Given the description of an element on the screen output the (x, y) to click on. 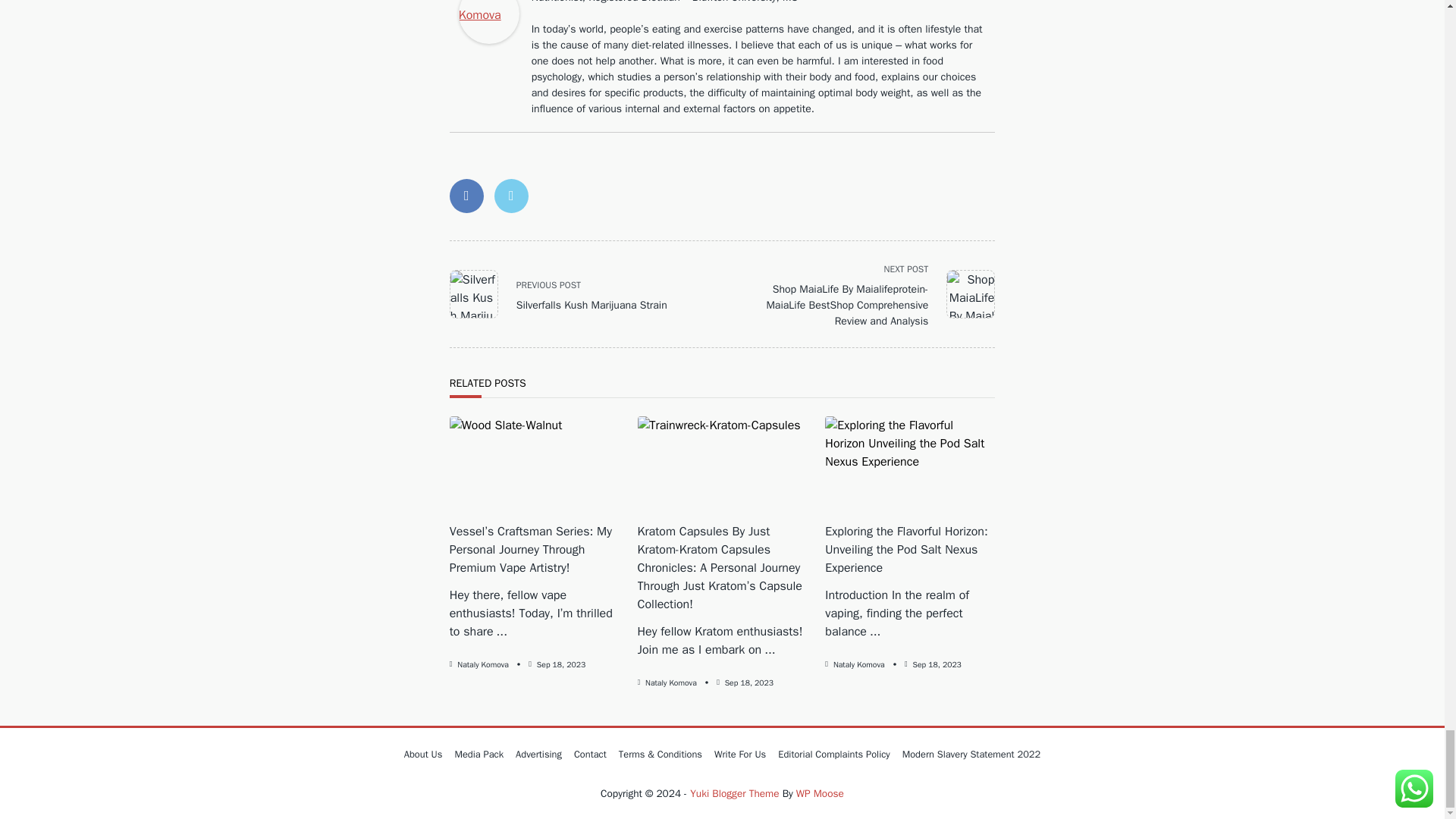
Nataly Komova (488, 22)
